Given the description of an element on the screen output the (x, y) to click on. 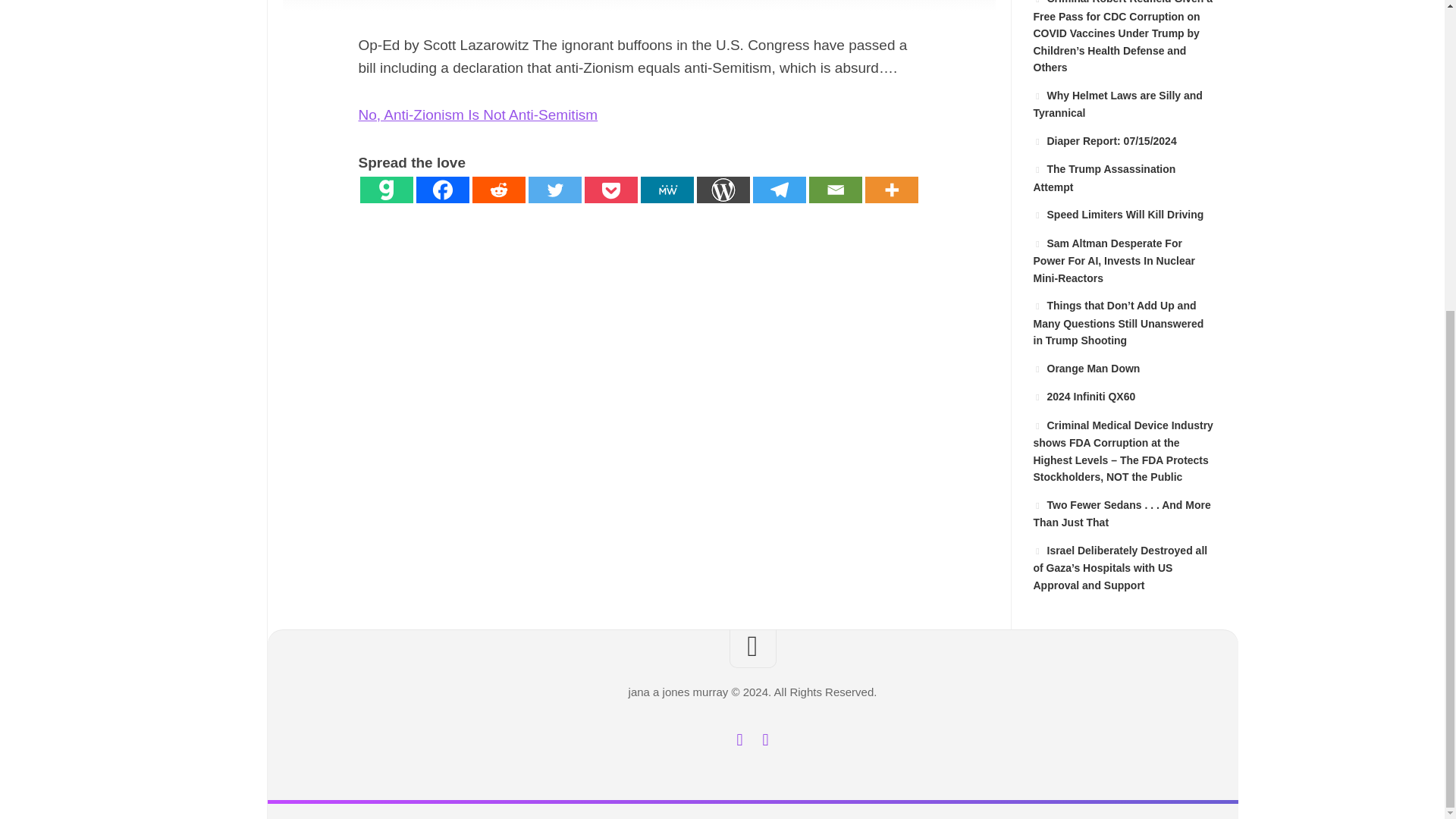
Twitter (553, 189)
The Trump Assassination Attempt (1103, 177)
Reddit (497, 189)
Telegram (778, 189)
Facebook (739, 740)
Orange Man Down (1086, 368)
Email (834, 189)
Pocket (610, 189)
More (890, 189)
Speed Limiters Will Kill Driving (1118, 214)
2024 Infiniti QX60 (1083, 396)
Gab (385, 189)
No, Anti-Zionism Is Not Anti-Semitism (477, 114)
Twitter (765, 740)
Facebook (441, 189)
